Given the description of an element on the screen output the (x, y) to click on. 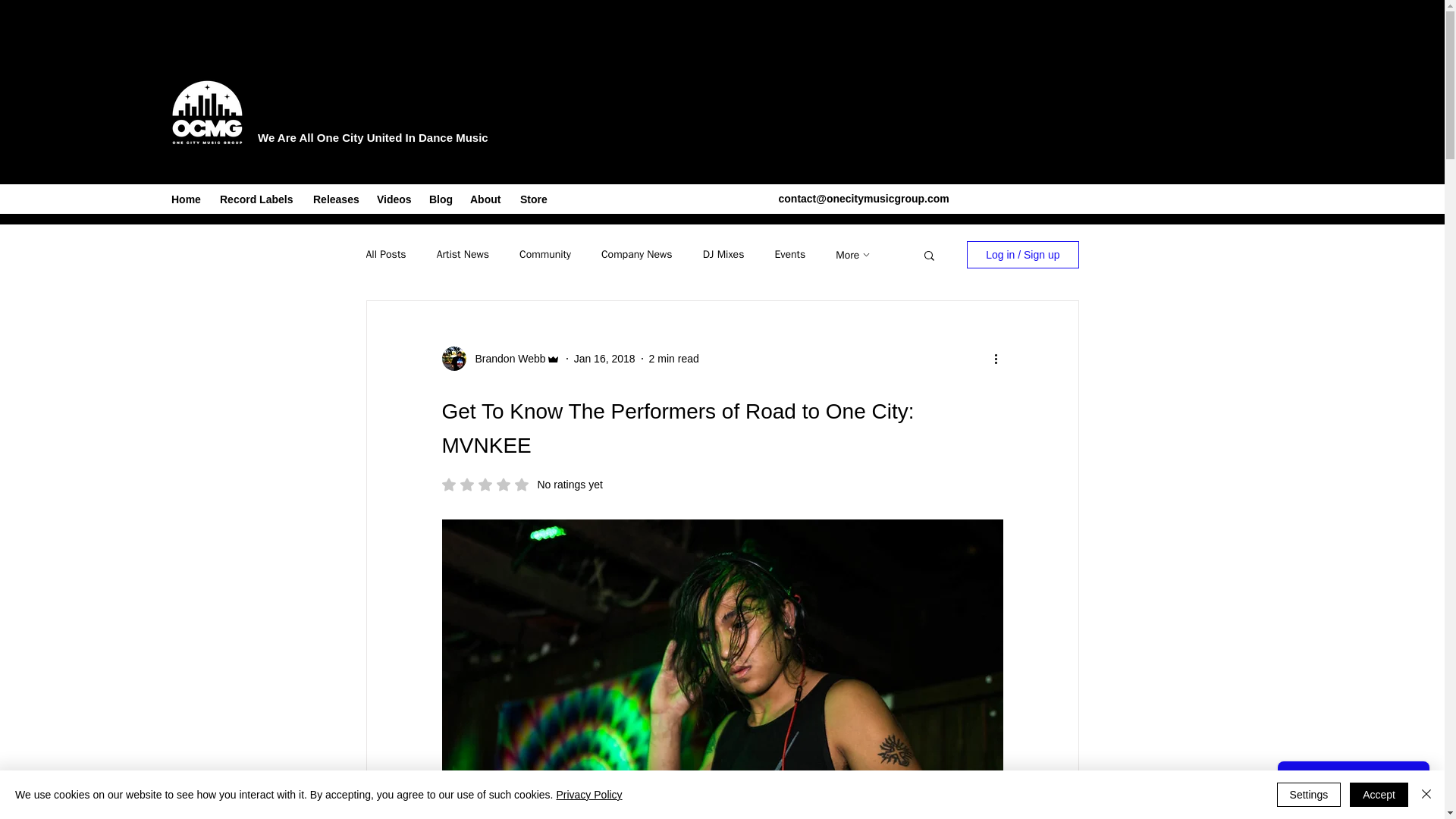
Brandon Webb (504, 358)
Releases (337, 199)
All Posts (385, 254)
DJ Mixes (723, 254)
Artist News (462, 254)
2 min read (673, 358)
About (487, 199)
Community (544, 254)
Store (534, 199)
Videos (395, 199)
